Given the description of an element on the screen output the (x, y) to click on. 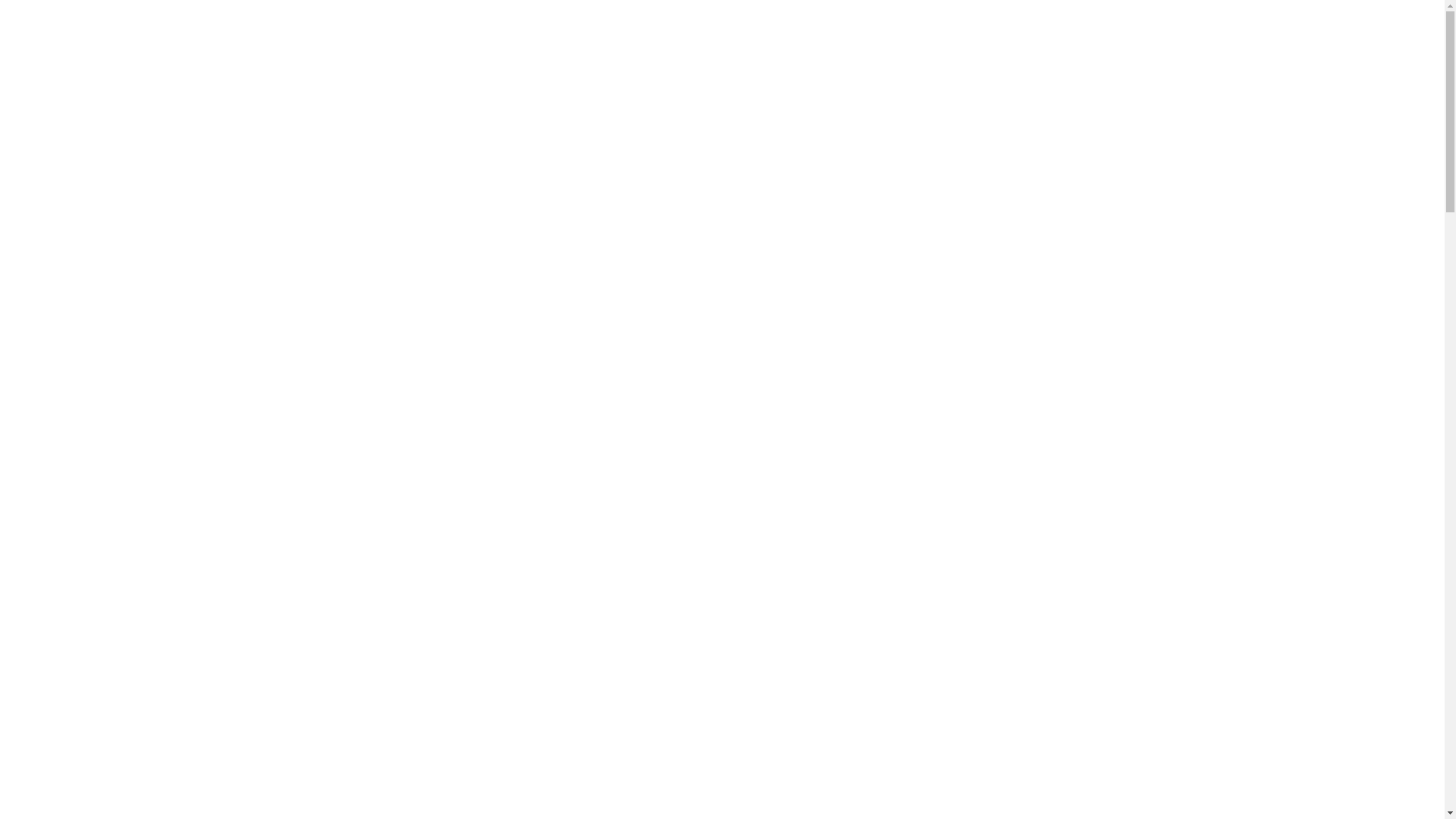
Accueil Element type: text (585, 25)
Gestion des cookies Element type: text (870, 765)
Rechercher un bien Element type: text (723, 25)
Estimez votre bien Element type: text (905, 25)
Trouver un agent Element type: text (1077, 25)
Contact Element type: text (797, 723)
Nos honoraires Element type: text (723, 765)
Rejoignez-nous Element type: text (1237, 25)
Alerte E-mail Element type: text (1381, 25)
